Given the description of an element on the screen output the (x, y) to click on. 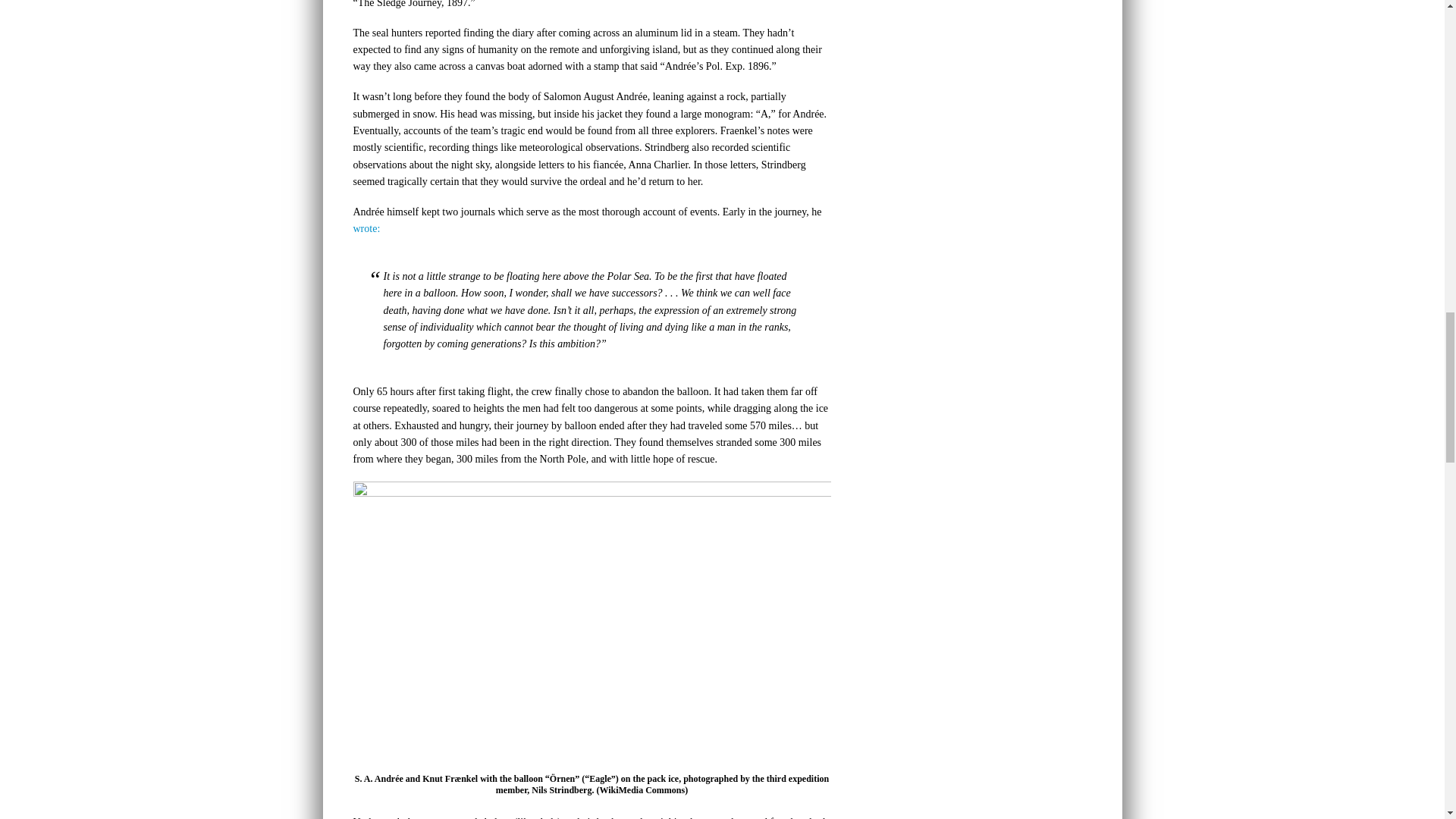
wrote: (366, 228)
